Given the description of an element on the screen output the (x, y) to click on. 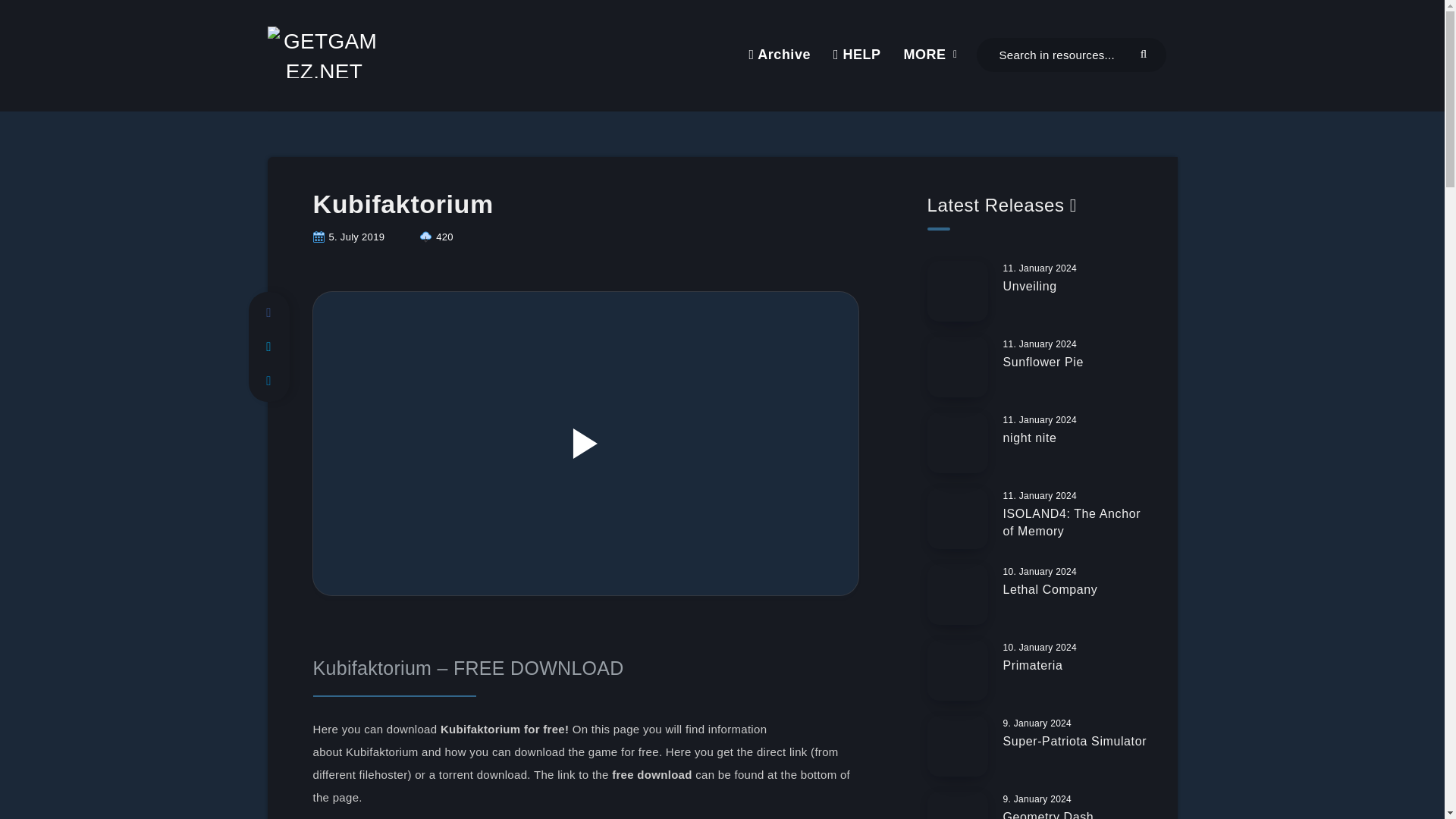
Archive (778, 54)
MORE (925, 54)
Super-Patriota Simulator (1075, 742)
Archive (778, 54)
Primateria (1032, 667)
Sunflower Pie (1043, 363)
Geometry Dash (1048, 814)
ISOLAND4: The Anchor of Memory (1071, 523)
Unveiling (1030, 288)
Downloads (436, 236)
HELP (856, 54)
Lethal Company (1050, 591)
night nite (1030, 439)
